Given the description of an element on the screen output the (x, y) to click on. 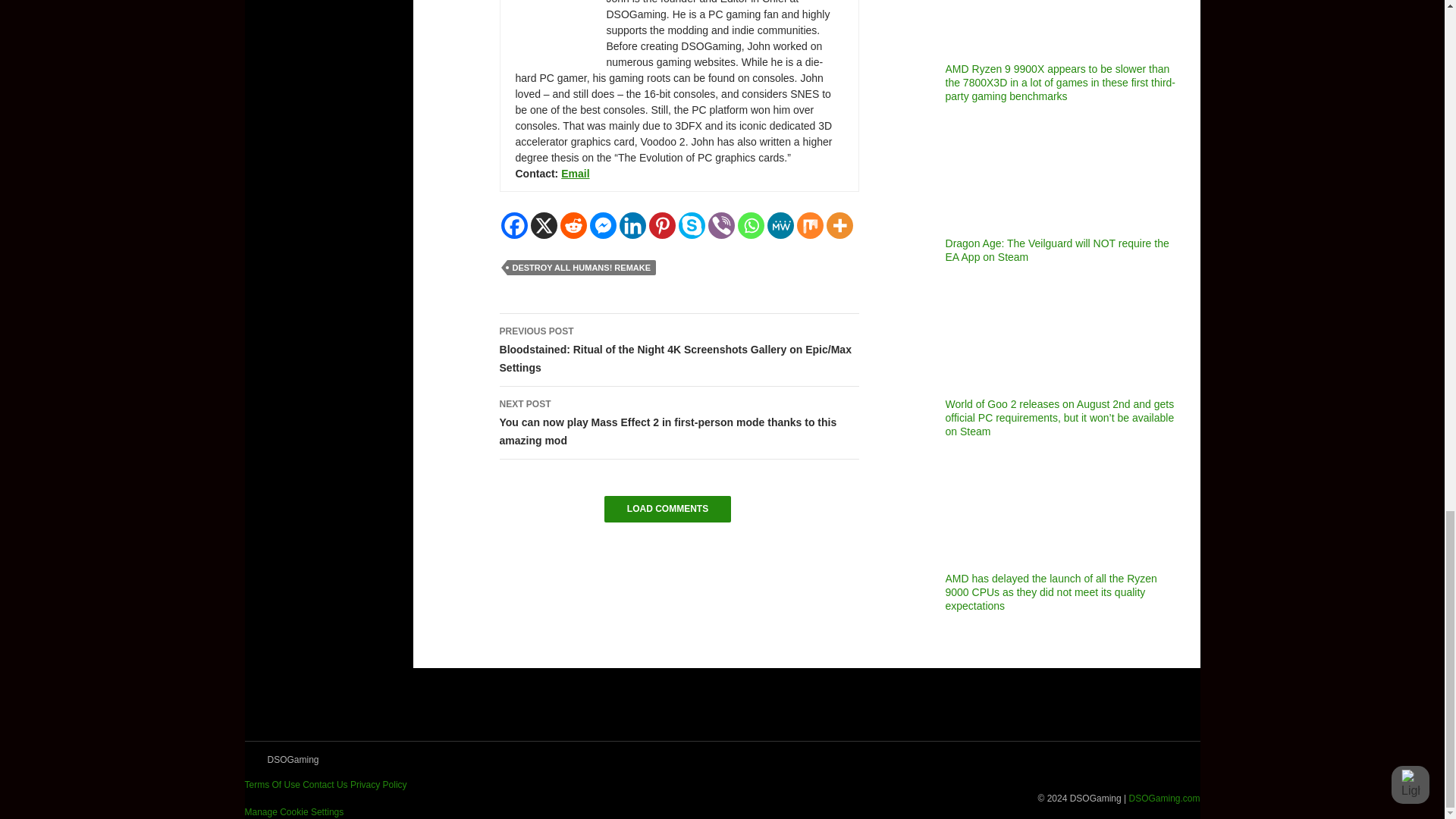
Facebook (513, 225)
Email (574, 173)
